Given the description of an element on the screen output the (x, y) to click on. 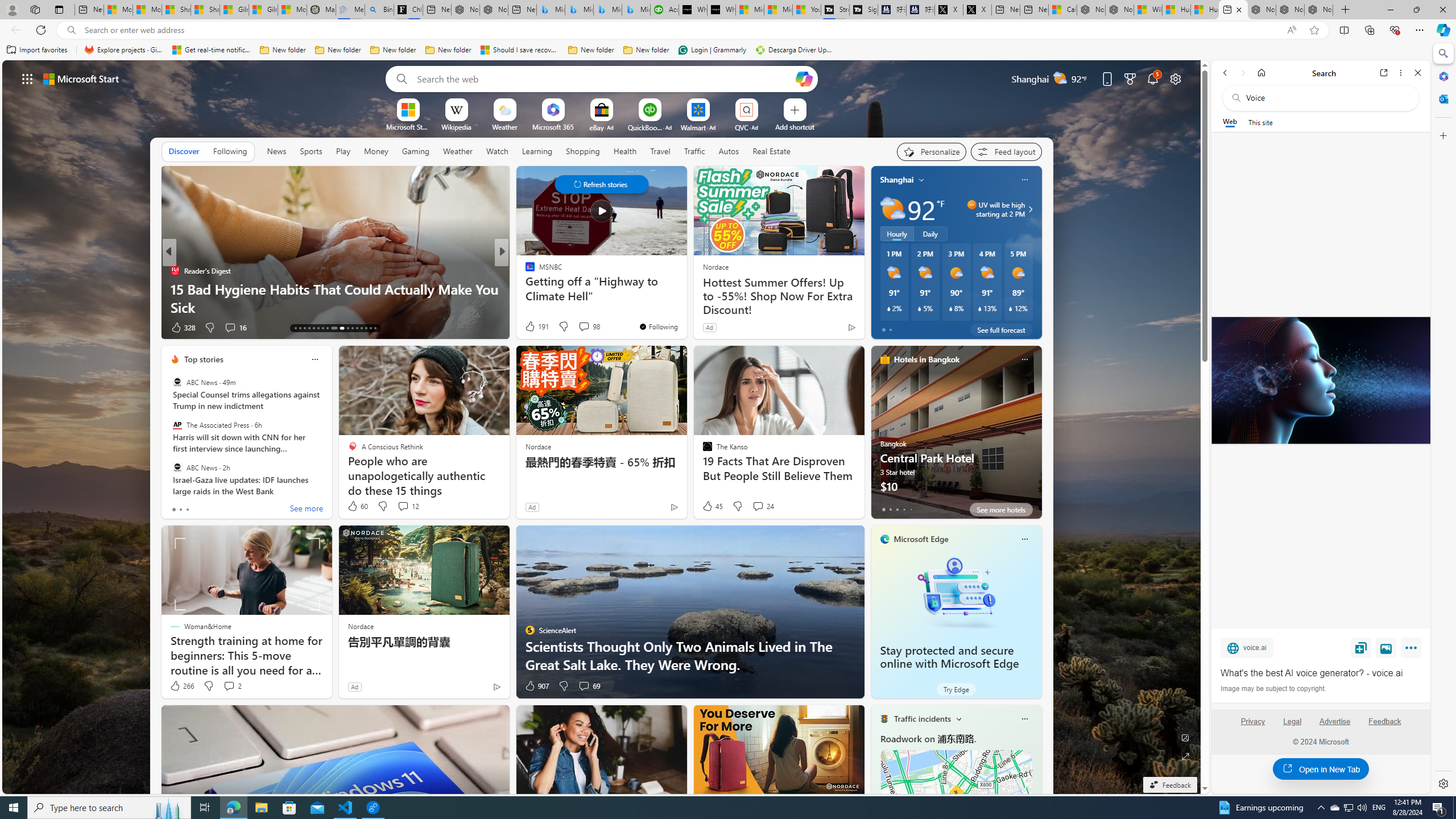
Accounting Software for Accountants, CPAs and Bookkeepers (664, 9)
Settings (1442, 783)
Edit Background (1185, 737)
Stay protected and secure online with Microsoft Edge (955, 592)
Forge of Empires (545, 288)
AutomationID: tab-15 (304, 328)
152 Like (532, 327)
Web scope (1230, 121)
AutomationID: tab-16 (309, 328)
tab-2 (897, 509)
